Given the description of an element on the screen output the (x, y) to click on. 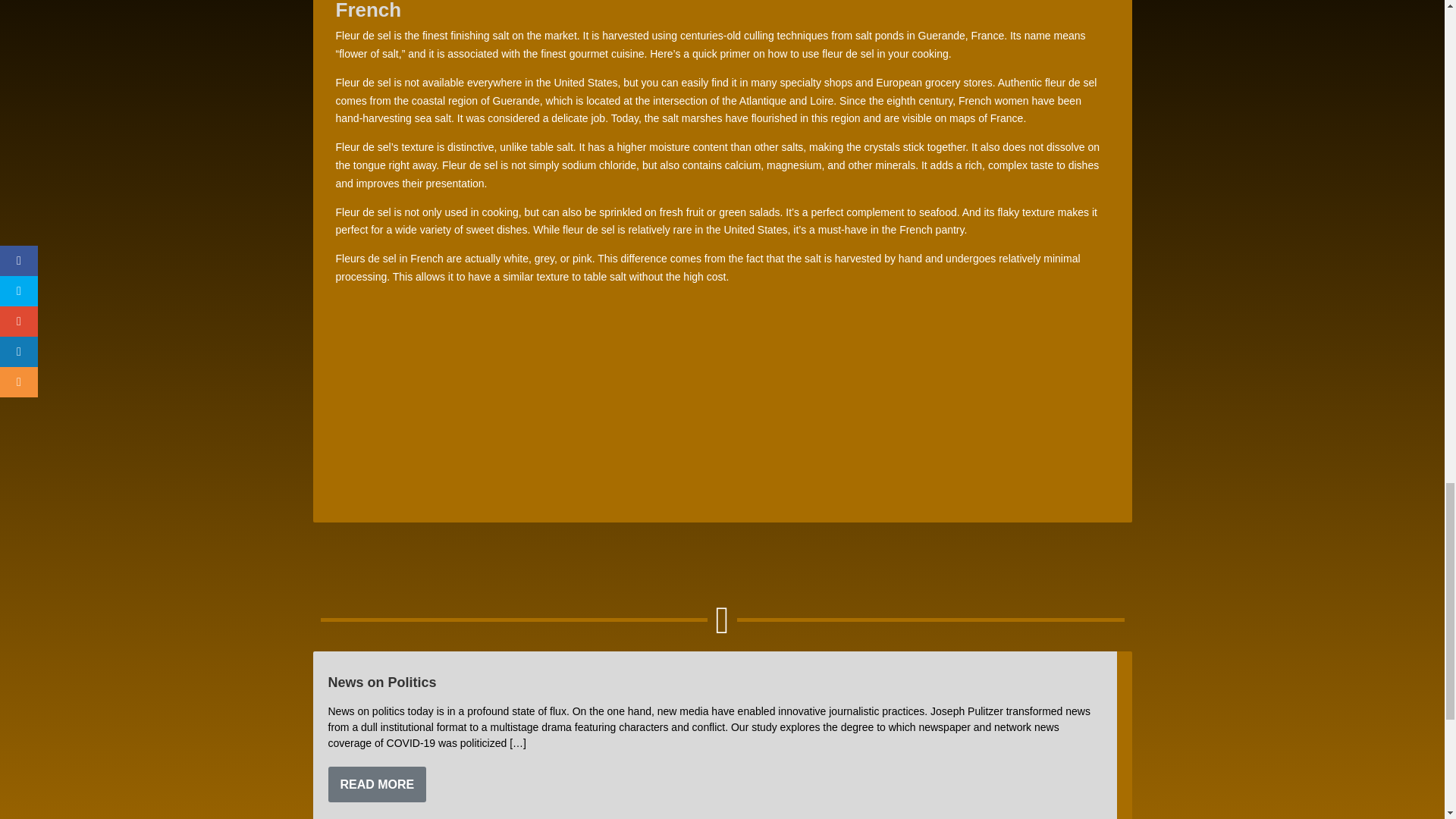
News on Politics (381, 682)
READ MORE (376, 784)
News on Politics (381, 682)
